Given the description of an element on the screen output the (x, y) to click on. 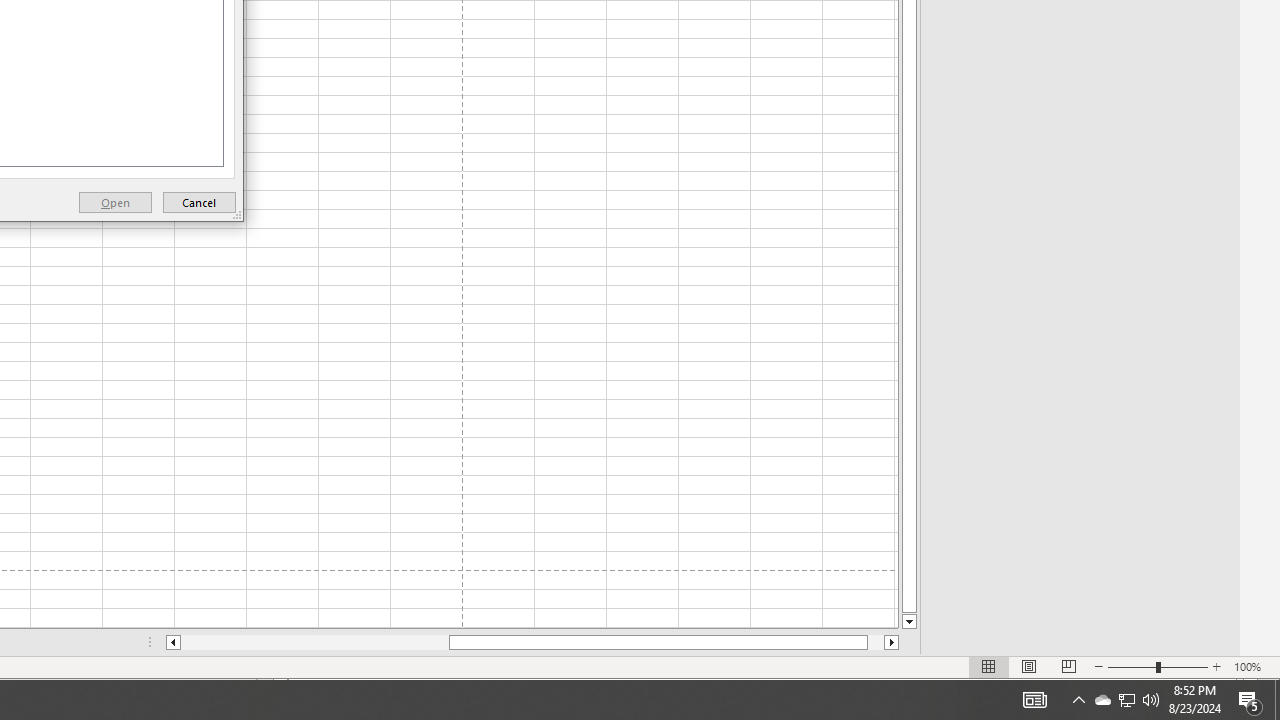
Zoom In (1217, 667)
Page Break Preview (1069, 667)
AutomationID: 4105 (1034, 699)
Open (115, 201)
Zoom (1126, 699)
Cancel (1158, 667)
Q2790: 100% (199, 201)
Action Center, 5 new notifications (1151, 699)
Zoom Out (1250, 699)
Column left (1131, 667)
Notification Chevron (171, 642)
User Promoted Notification Area (1078, 699)
Column right (1126, 699)
